Given the description of an element on the screen output the (x, y) to click on. 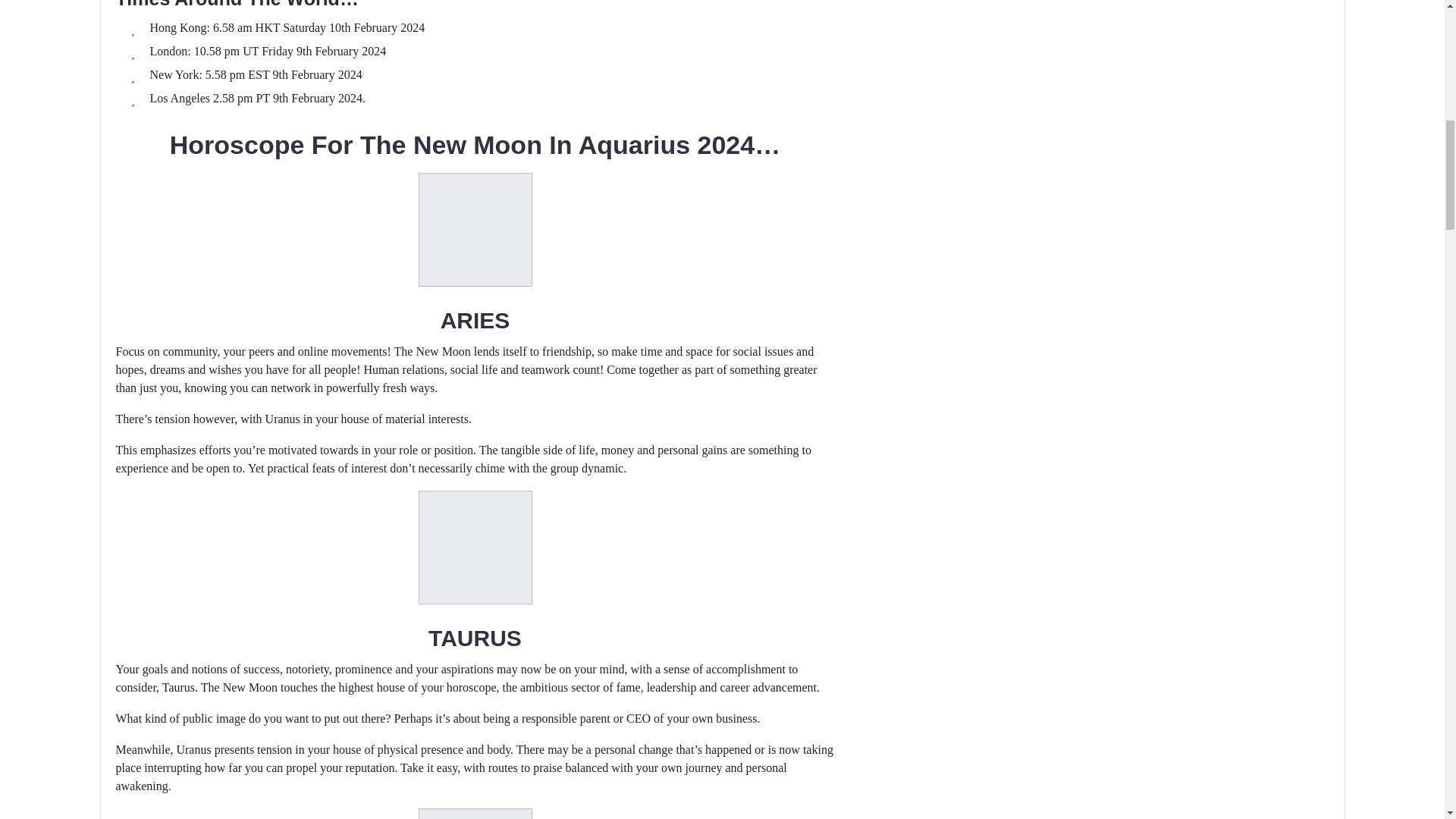
TAURUS (474, 637)
ARIES (476, 319)
